Given the description of an element on the screen output the (x, y) to click on. 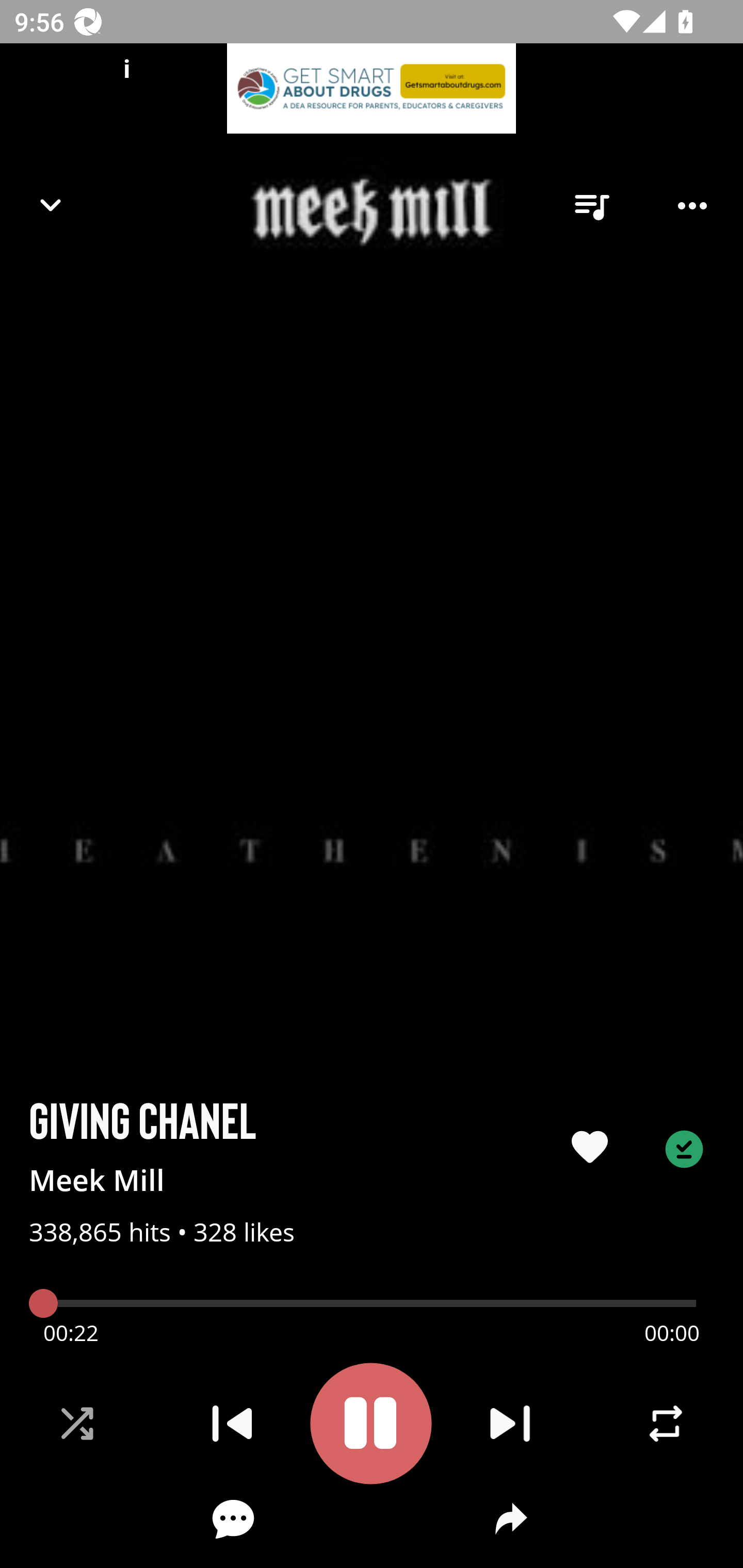
Navigate up (50, 205)
queue (590, 206)
Player options (692, 206)
